Given the description of an element on the screen output the (x, y) to click on. 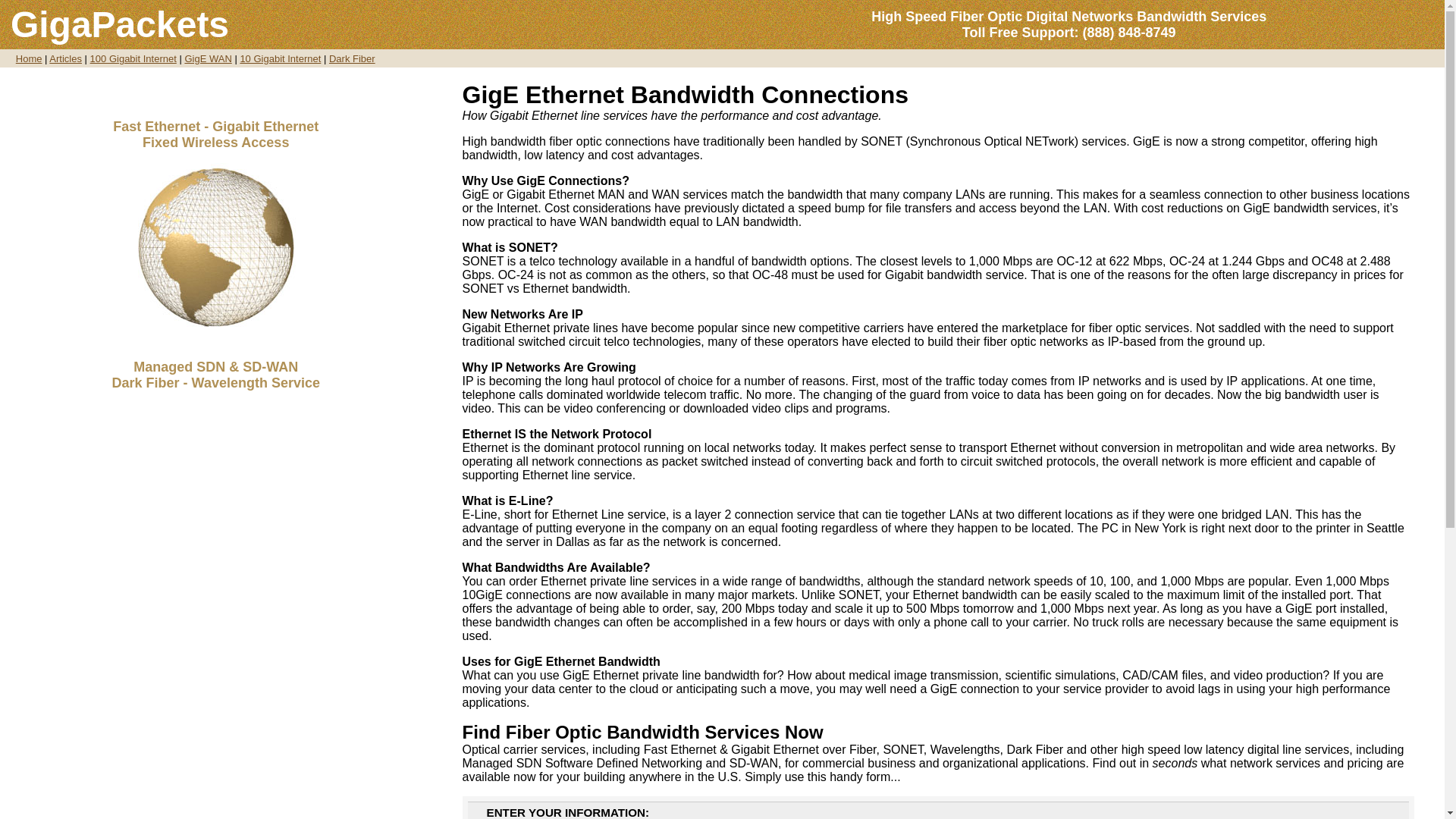
Articles (65, 58)
GigE WAN (207, 58)
Home (29, 57)
10 Gigabit Internet (280, 58)
100 Gigabit Internet (133, 58)
Dark Fiber (352, 58)
